Given the description of an element on the screen output the (x, y) to click on. 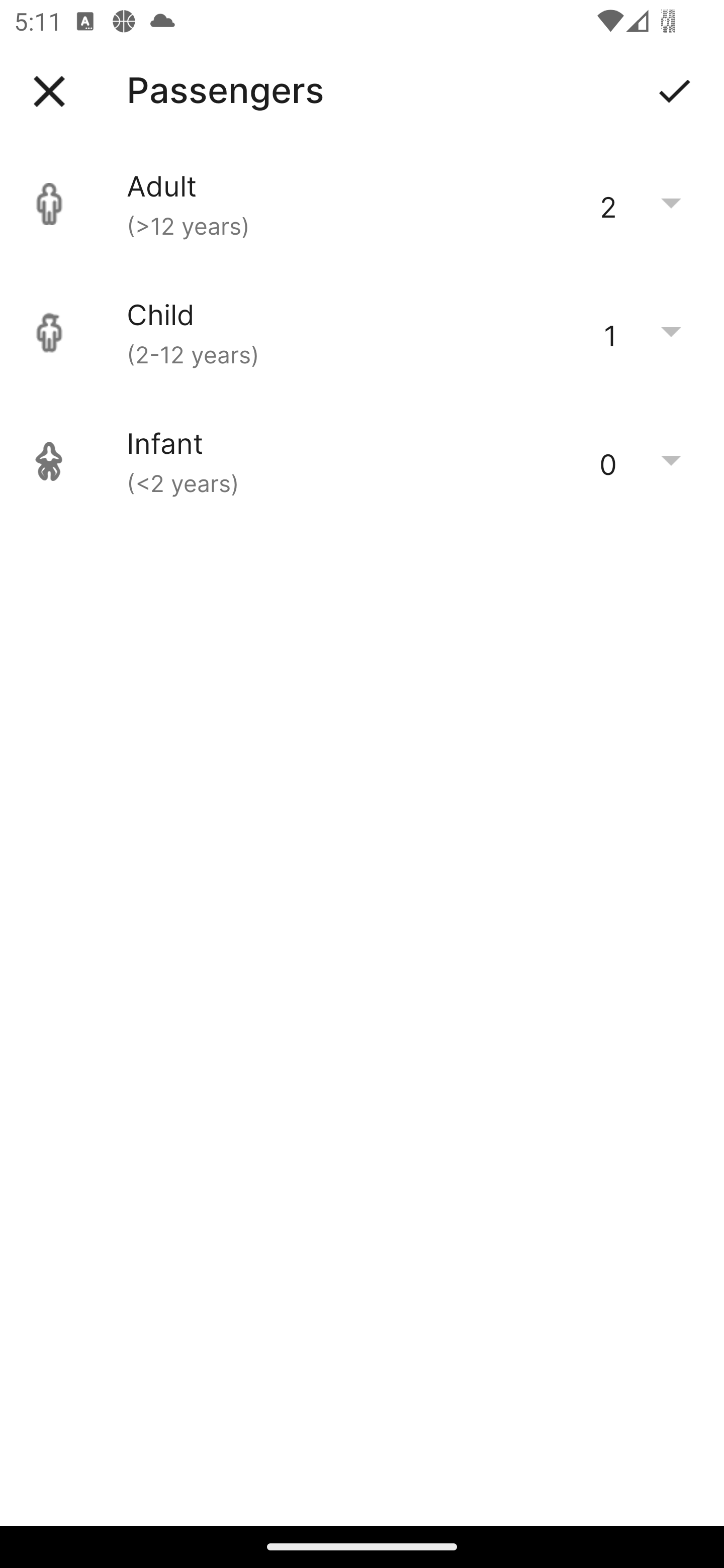
Adult (>12 years) 2 (362, 204)
Child (2-12 years) 1 (362, 332)
Infant (<2 years) 0 (362, 461)
